Given the description of an element on the screen output the (x, y) to click on. 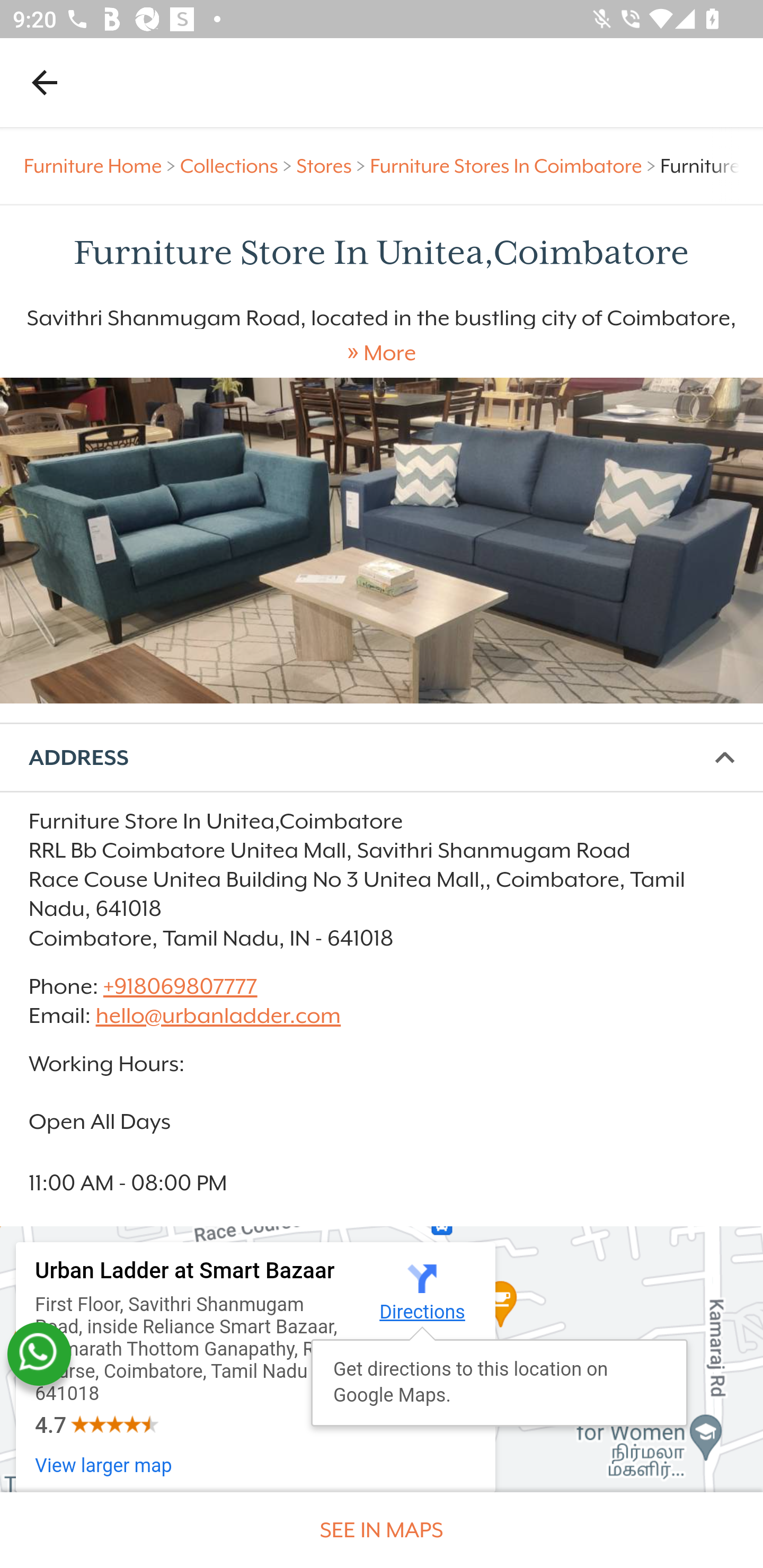
Navigate up (44, 82)
Furniture Home >  Furniture Home  >  (102, 165)
Collections >  Collections  >  (238, 165)
Stores >  Stores  >  (333, 165)
» More (381, 353)
Experience Centre (381, 540)
ADDRESS (381, 757)
+918069807777 (179, 986)
hello@urbanladder.com (218, 1016)
whatsapp (38, 1353)
View larger map (104, 1465)
SEE IN MAPS (381, 1530)
